Given the description of an element on the screen output the (x, y) to click on. 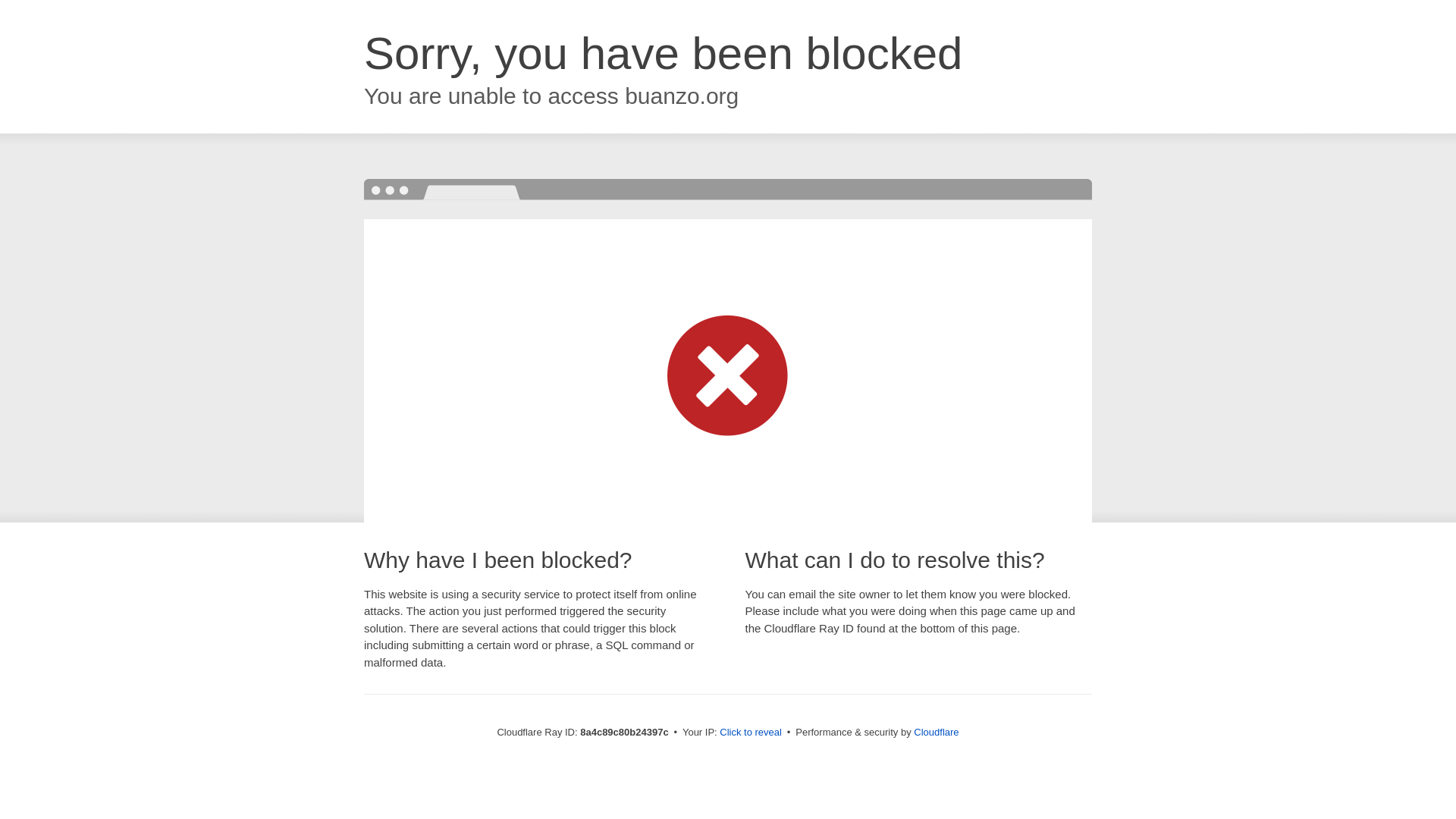
Cloudflare (936, 731)
Click to reveal (750, 732)
